Given the description of an element on the screen output the (x, y) to click on. 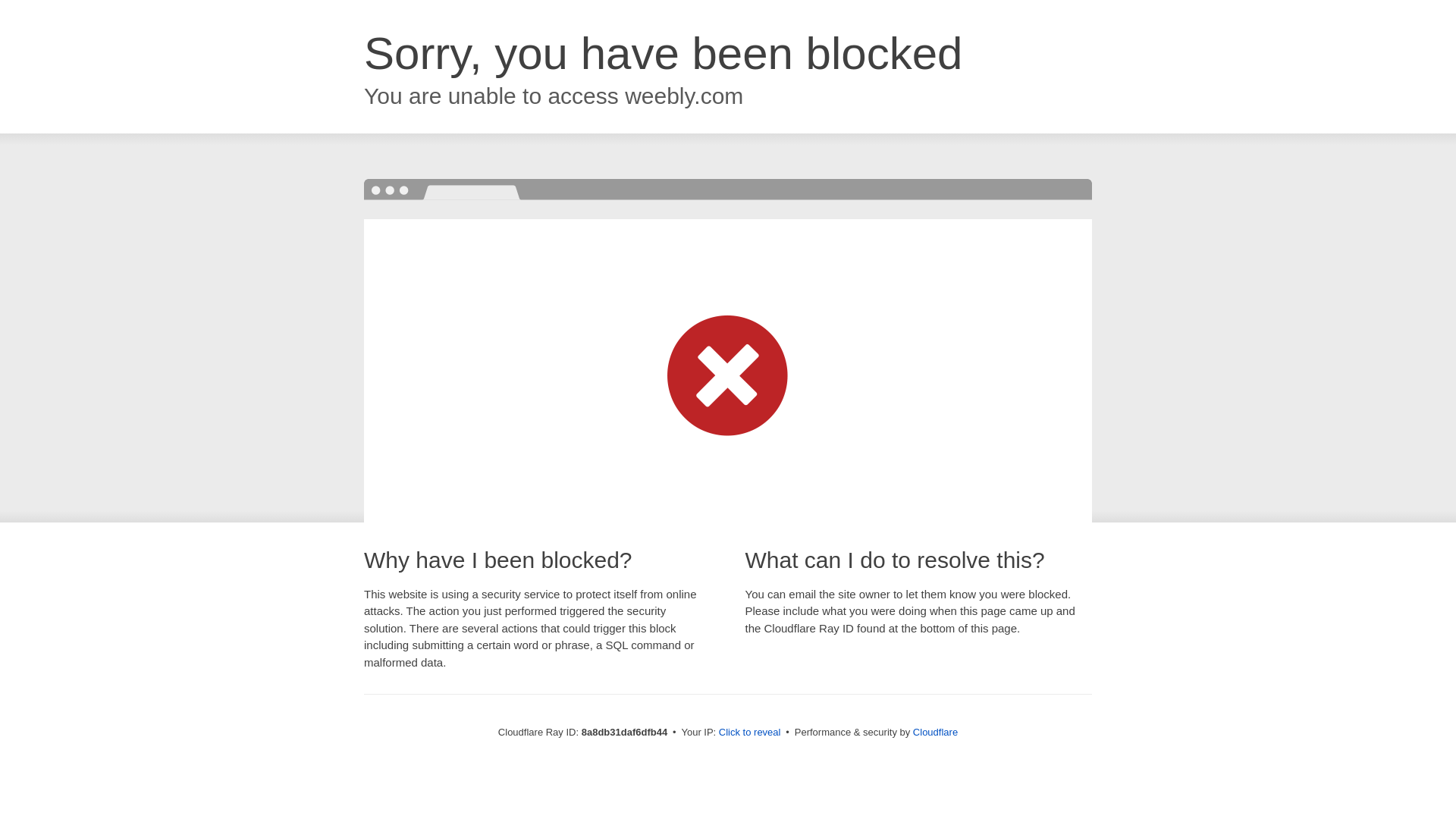
Click to reveal (749, 732)
Cloudflare (935, 731)
